Given the description of an element on the screen output the (x, y) to click on. 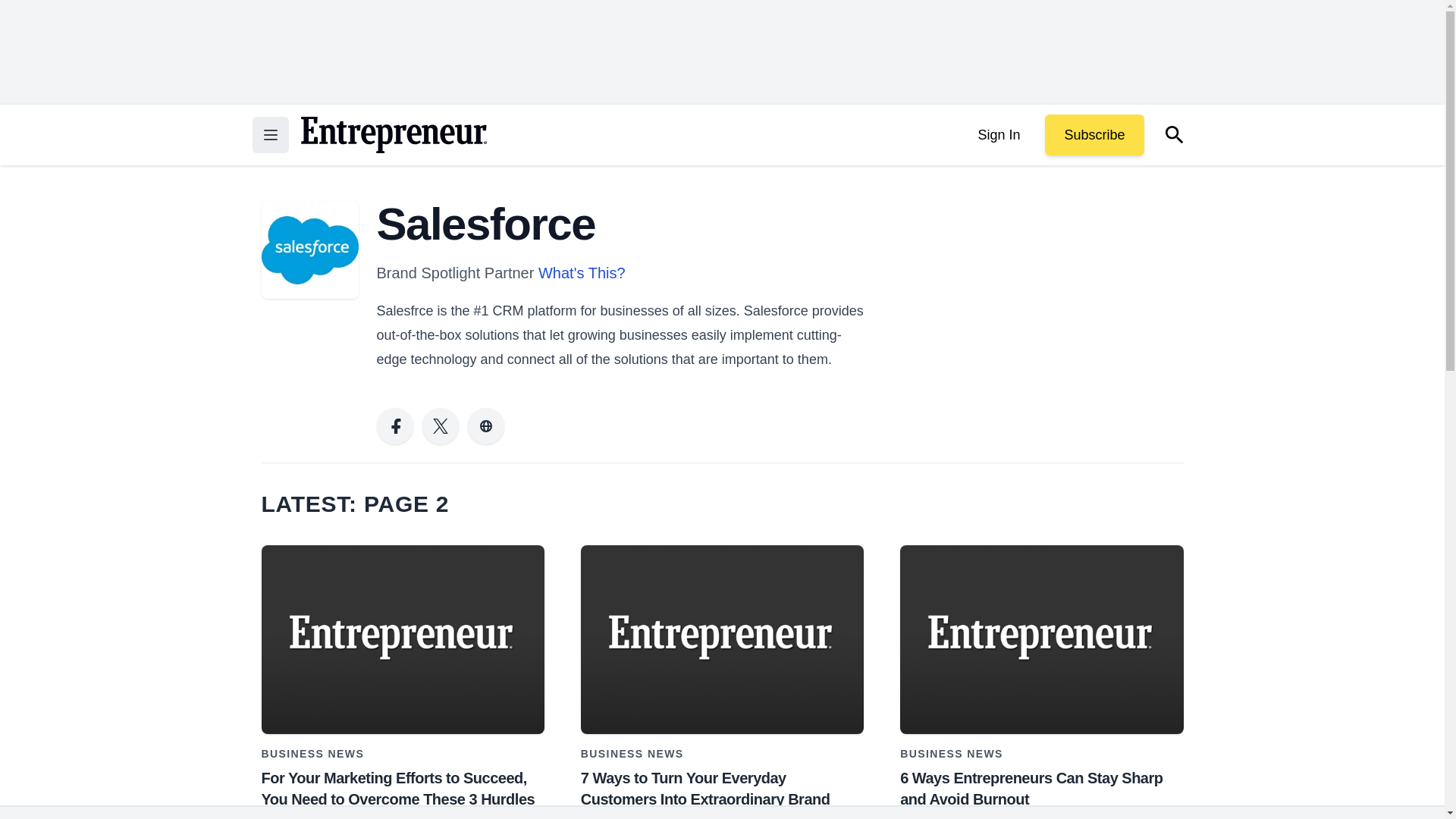
Return to the home page (392, 135)
Subscribe (1093, 134)
facebook (393, 425)
Sign In (998, 134)
website (485, 425)
twitter (440, 425)
